Given the description of an element on the screen output the (x, y) to click on. 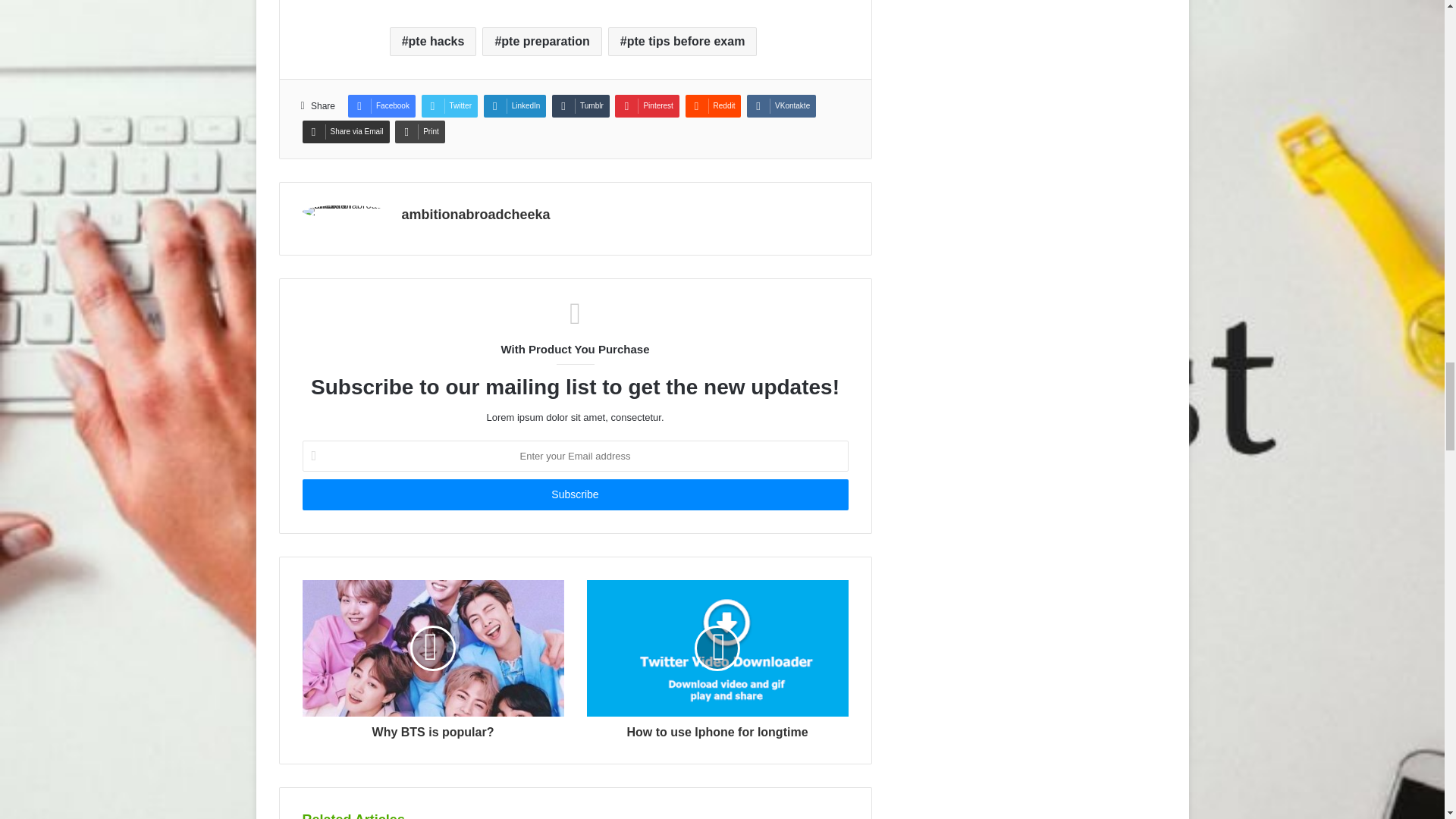
pte tips before exam (682, 41)
Subscribe (574, 494)
pte preparation (541, 41)
pte hacks (433, 41)
